Given the description of an element on the screen output the (x, y) to click on. 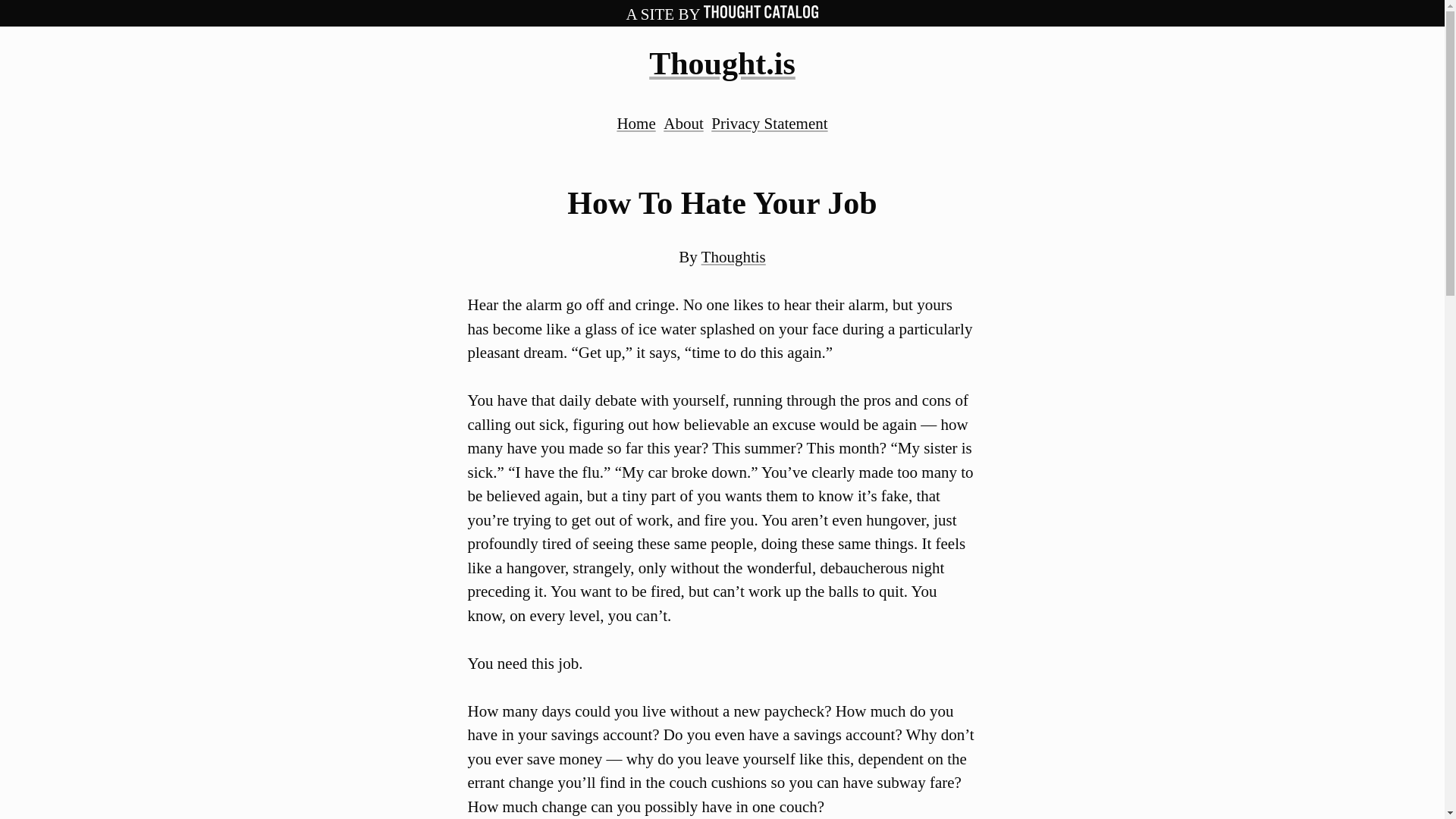
THOUGHT CATALOG (760, 11)
Home (635, 123)
Thought.is (721, 63)
About (683, 123)
THOUGHT CATALOG (760, 13)
Privacy Statement (769, 123)
Posts by Thoughtis (733, 257)
Thoughtis (733, 257)
